Given the description of an element on the screen output the (x, y) to click on. 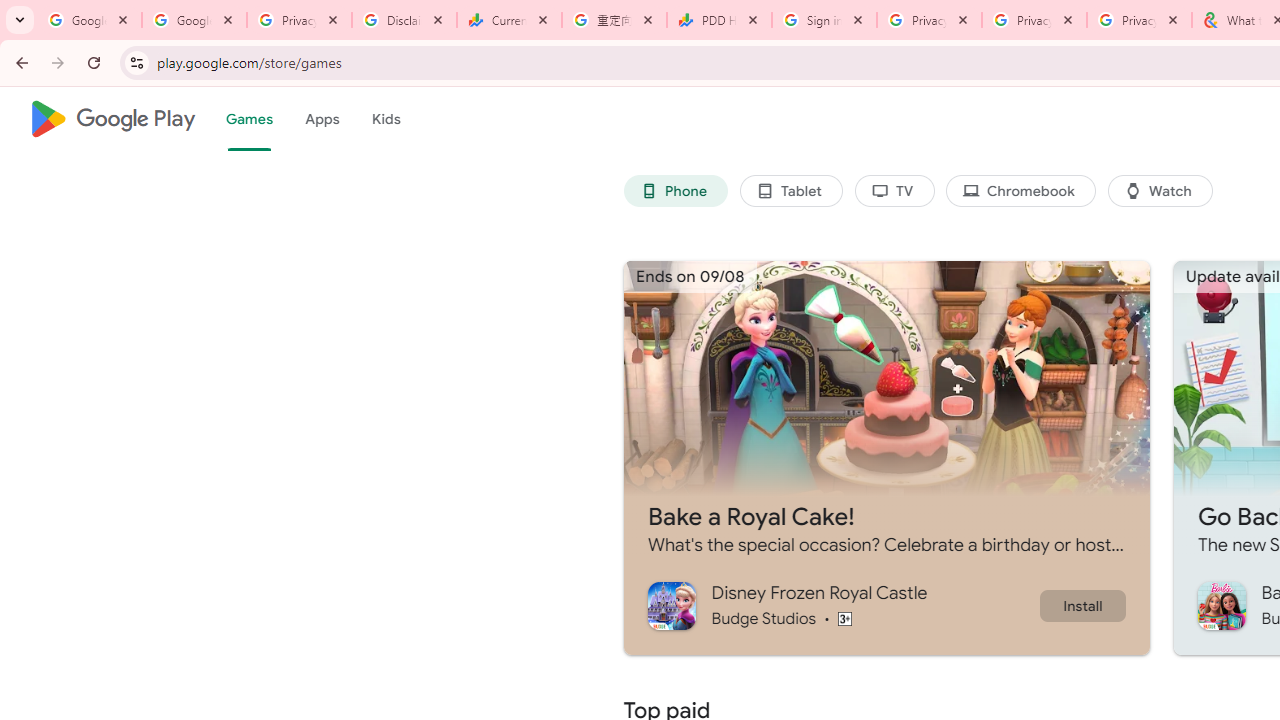
Currencies - Google Finance (509, 20)
